Given the description of an element on the screen output the (x, y) to click on. 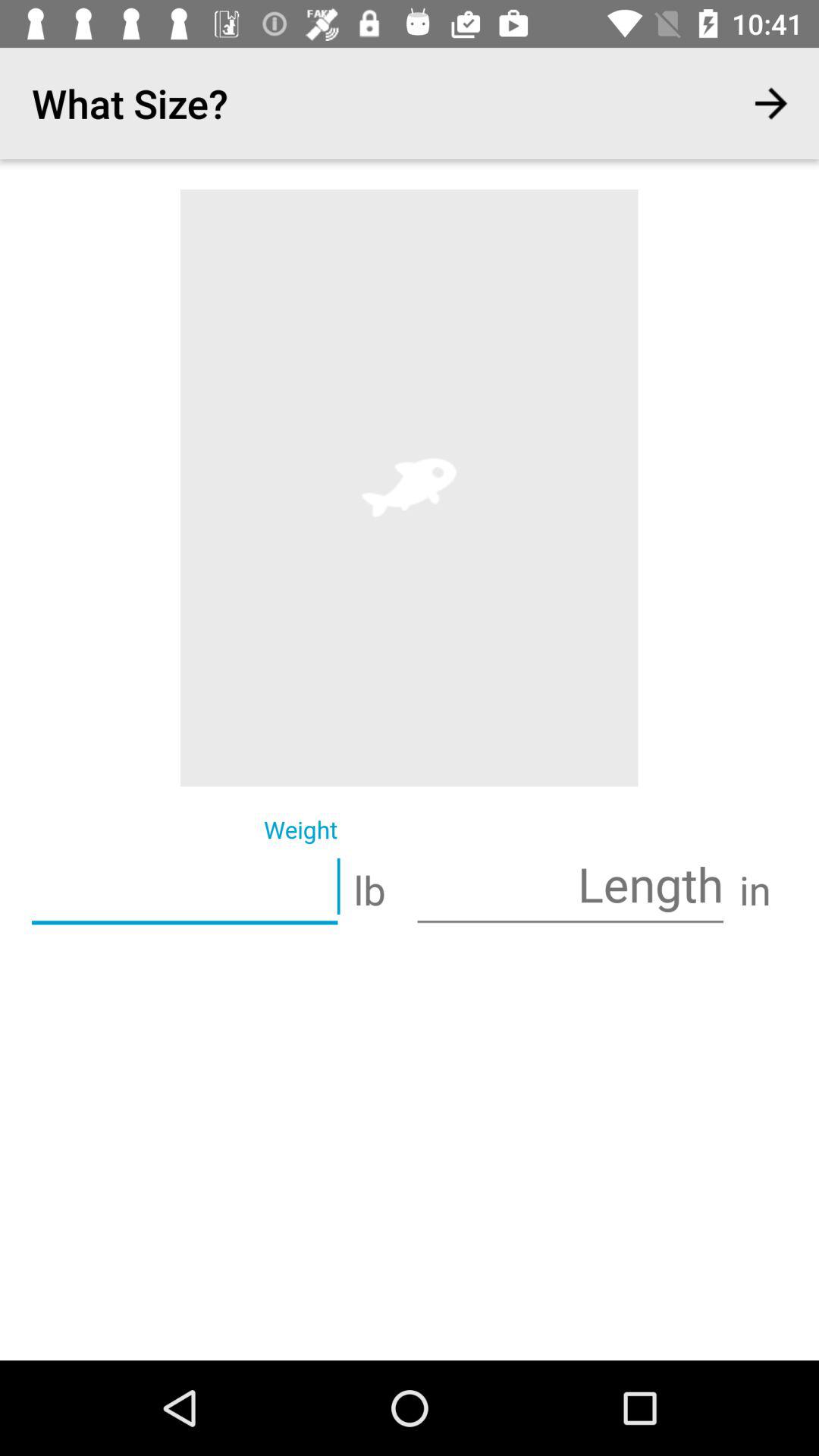
enter weight in pounds (184, 888)
